Given the description of an element on the screen output the (x, y) to click on. 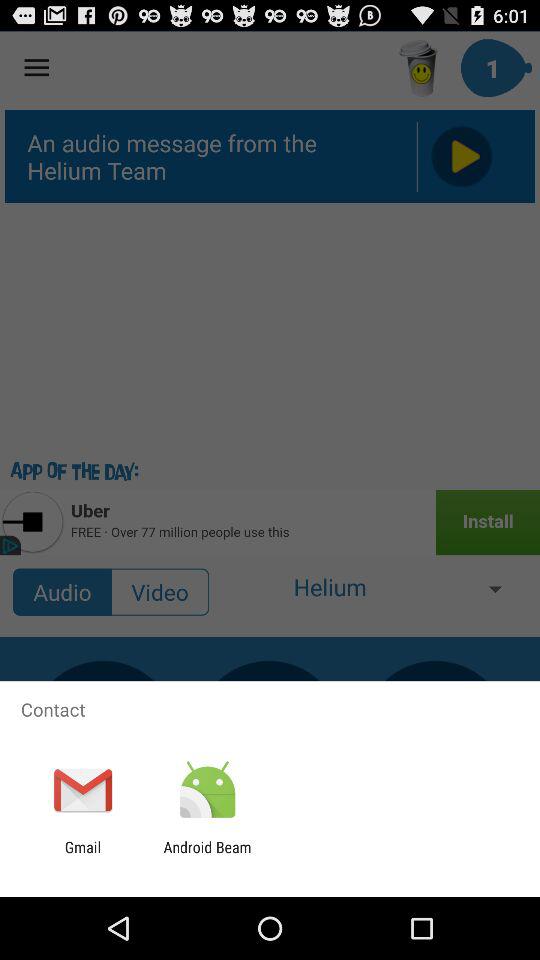
turn off the app next to gmail icon (207, 856)
